Given the description of an element on the screen output the (x, y) to click on. 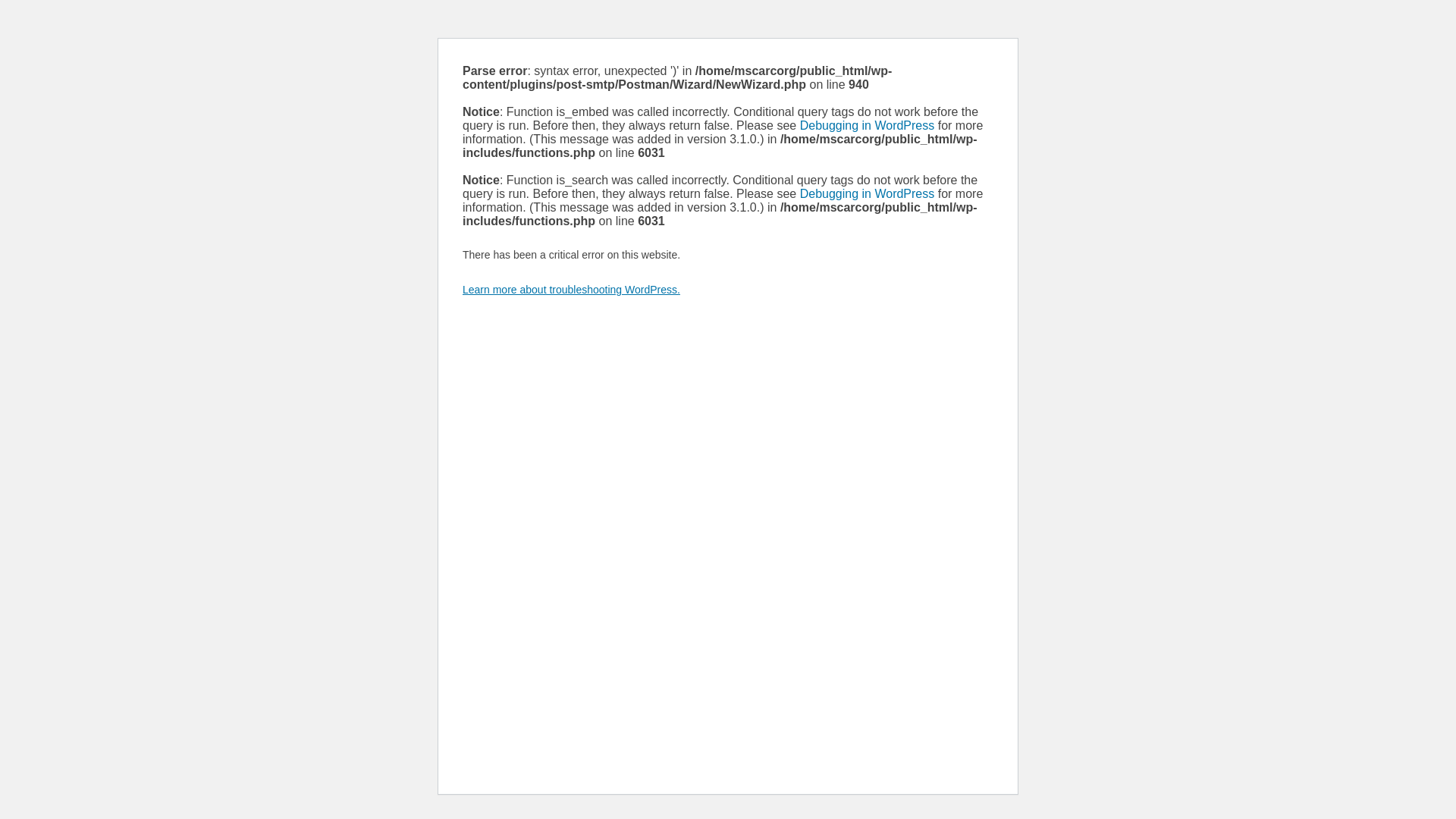
Debugging in WordPress Element type: text (867, 193)
Learn more about troubleshooting WordPress. Element type: text (571, 289)
Debugging in WordPress Element type: text (867, 125)
